Given the description of an element on the screen output the (x, y) to click on. 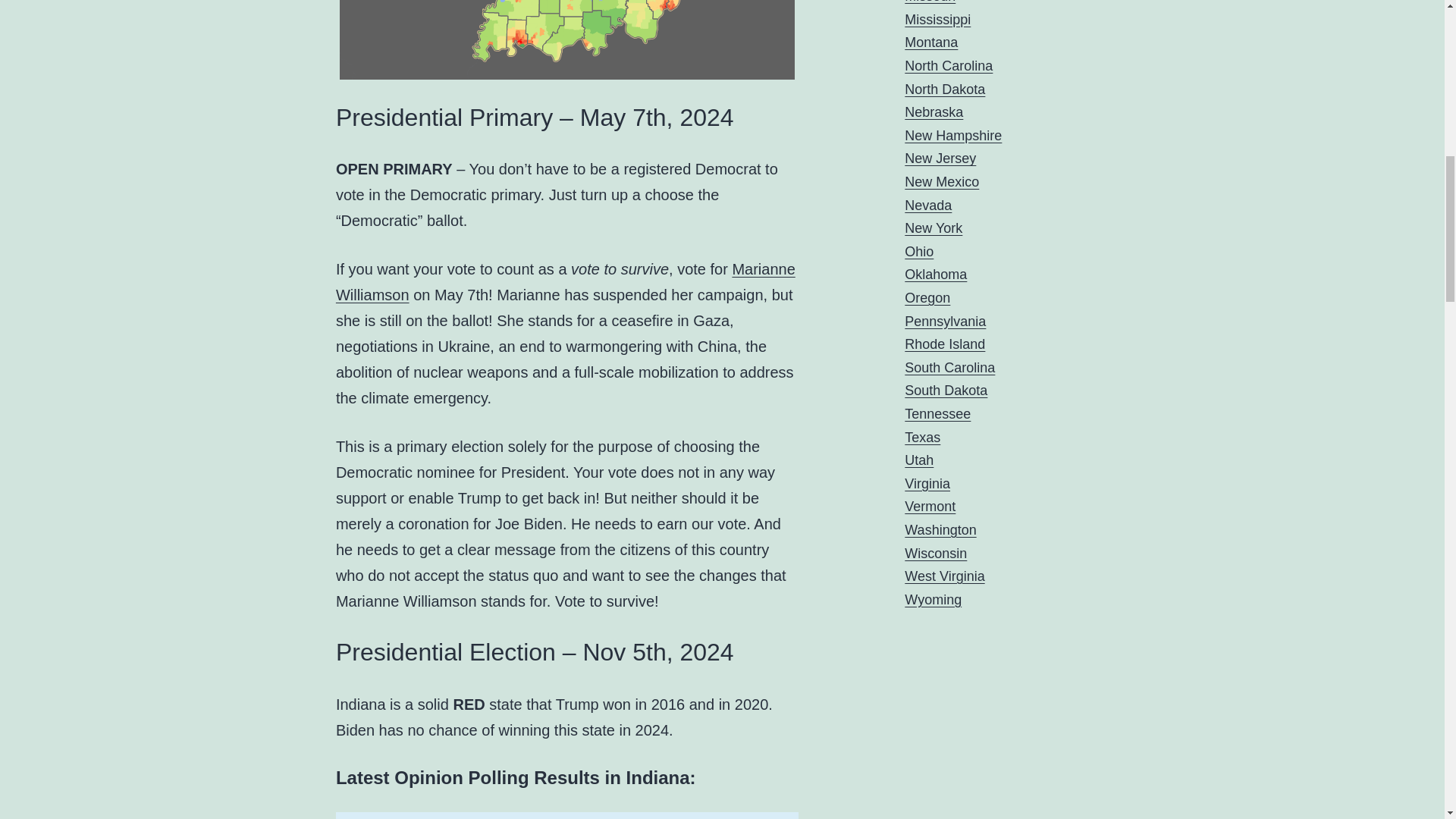
Marianne Williamson (565, 282)
